Given the description of an element on the screen output the (x, y) to click on. 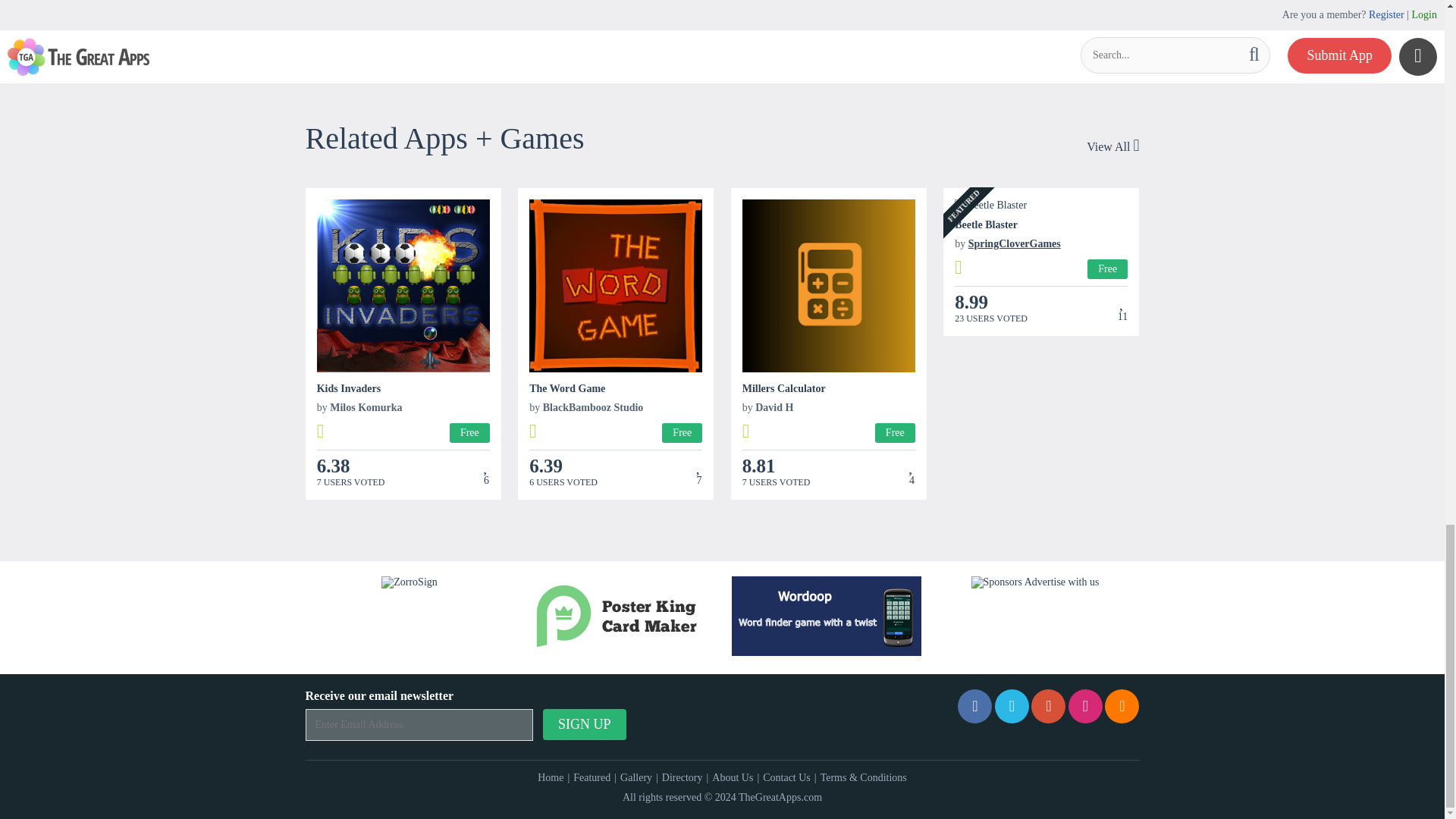
Instagram (1085, 706)
Facebook (974, 706)
Poster King - Card Maker (617, 616)
ZorroSign (409, 582)
Wordoop Word Game (826, 616)
Sign up (584, 724)
Rss (1121, 706)
Pinterest (1047, 706)
Twitter (1011, 706)
Sponsors Advertise with us (1035, 582)
